Given the description of an element on the screen output the (x, y) to click on. 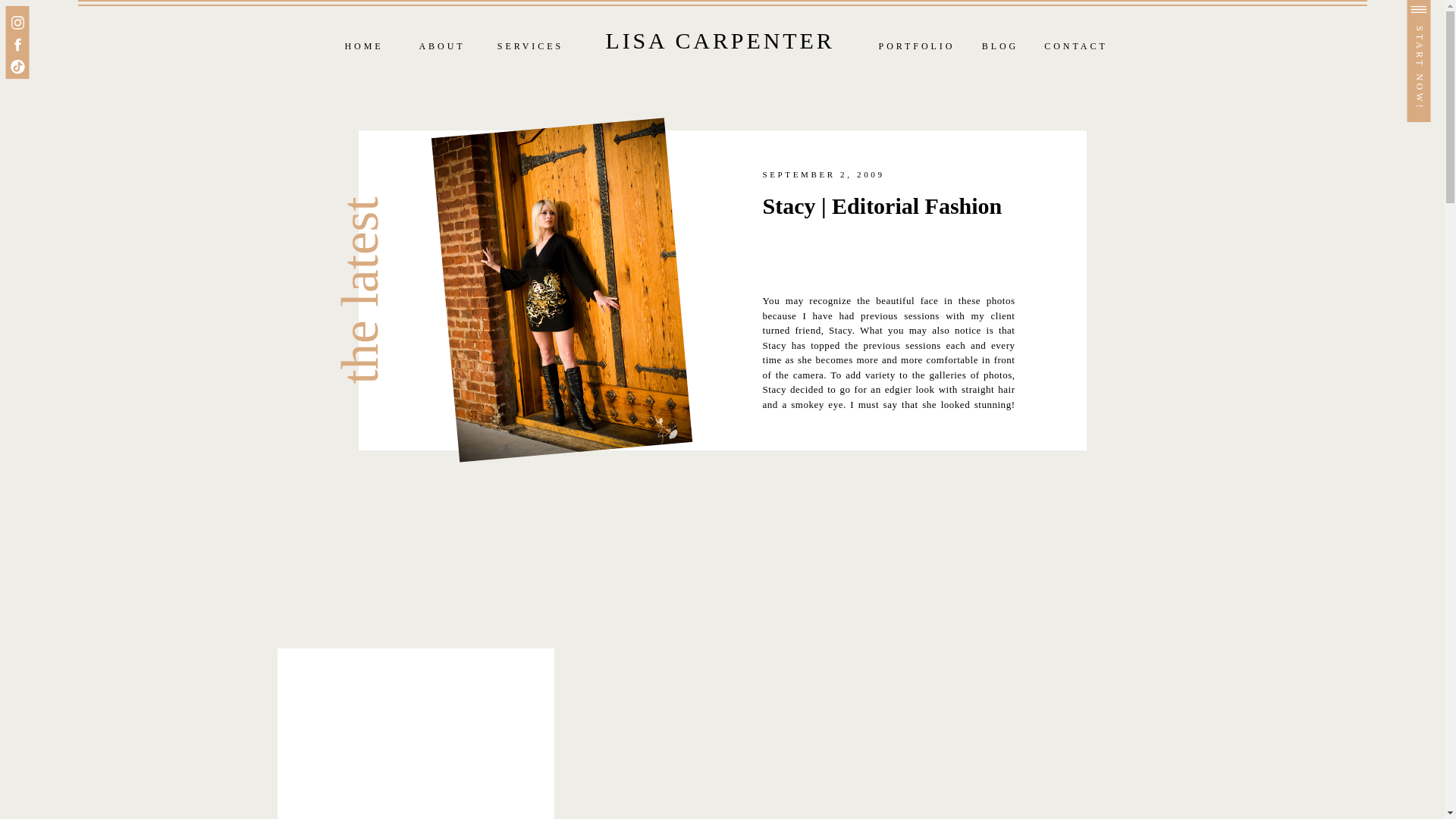
HOME (363, 46)
LISA CARPENTER (719, 40)
ABOUT (440, 46)
SERVICES (530, 46)
PORTFOLIO (917, 46)
BLOG (999, 46)
CONTACT (1076, 46)
